Given the description of an element on the screen output the (x, y) to click on. 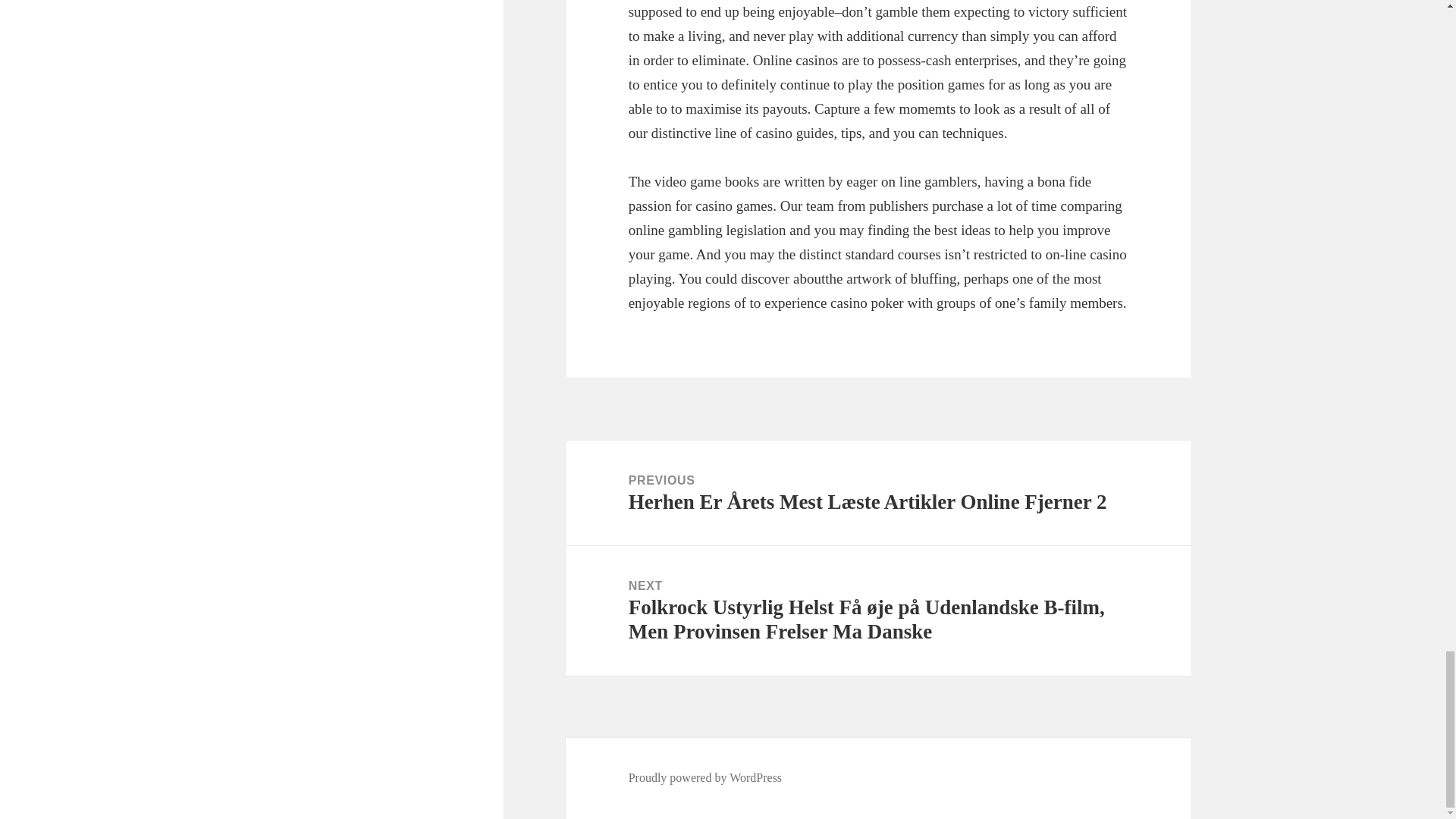
Proudly powered by WordPress (704, 777)
